Given the description of an element on the screen output the (x, y) to click on. 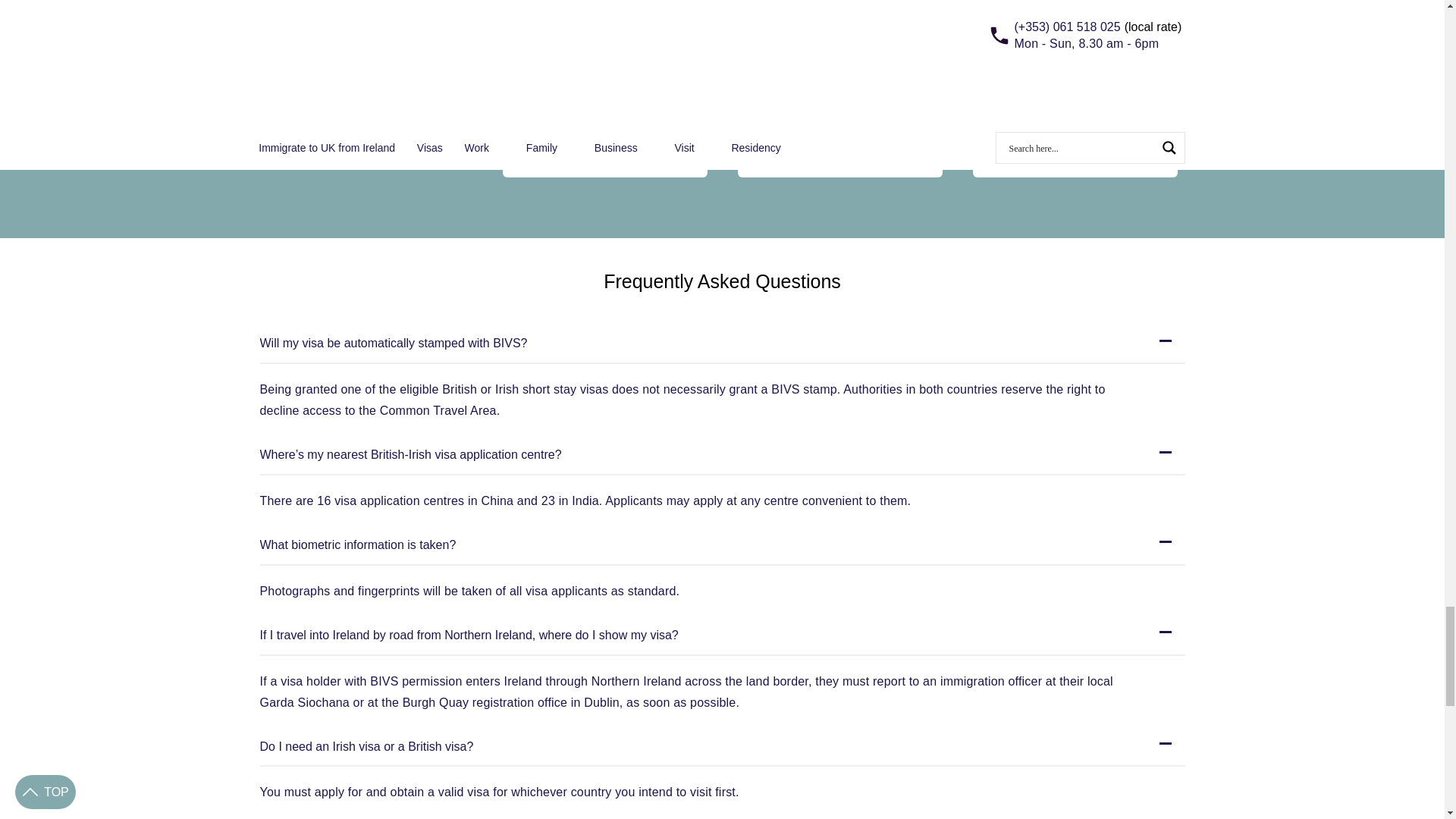
Read more about UK Tourist Visa (840, 137)
Read more about UK Transit Visa (1075, 137)
Read more about UK Business Visitor Visa (604, 137)
